Given the description of an element on the screen output the (x, y) to click on. 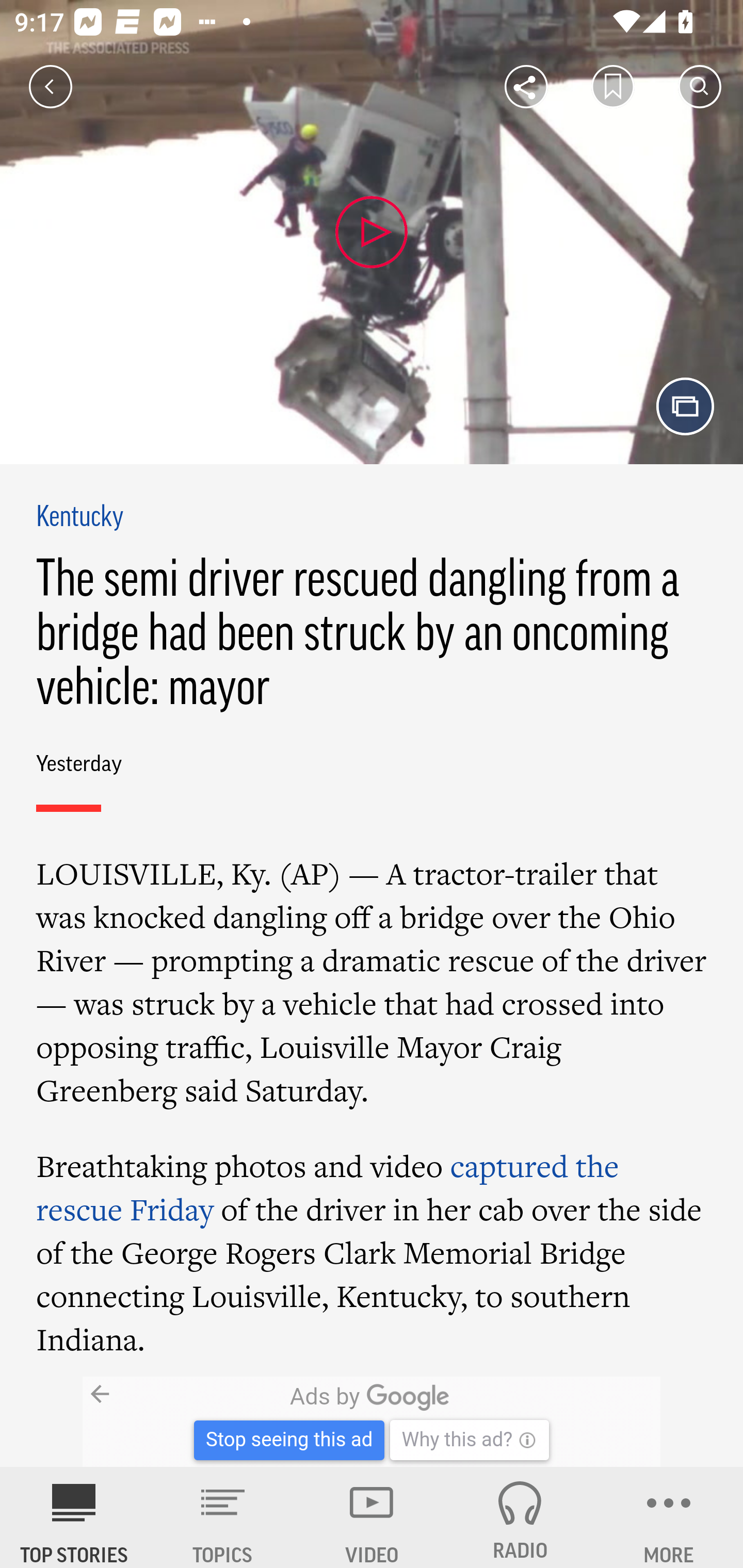
Kentucky (80, 518)
captured the rescue Friday (327, 1186)
B29897659 (168, 1421)
AP News TOP STORIES (74, 1517)
TOPICS (222, 1517)
VIDEO (371, 1517)
RADIO (519, 1517)
MORE (668, 1517)
